Given the description of an element on the screen output the (x, y) to click on. 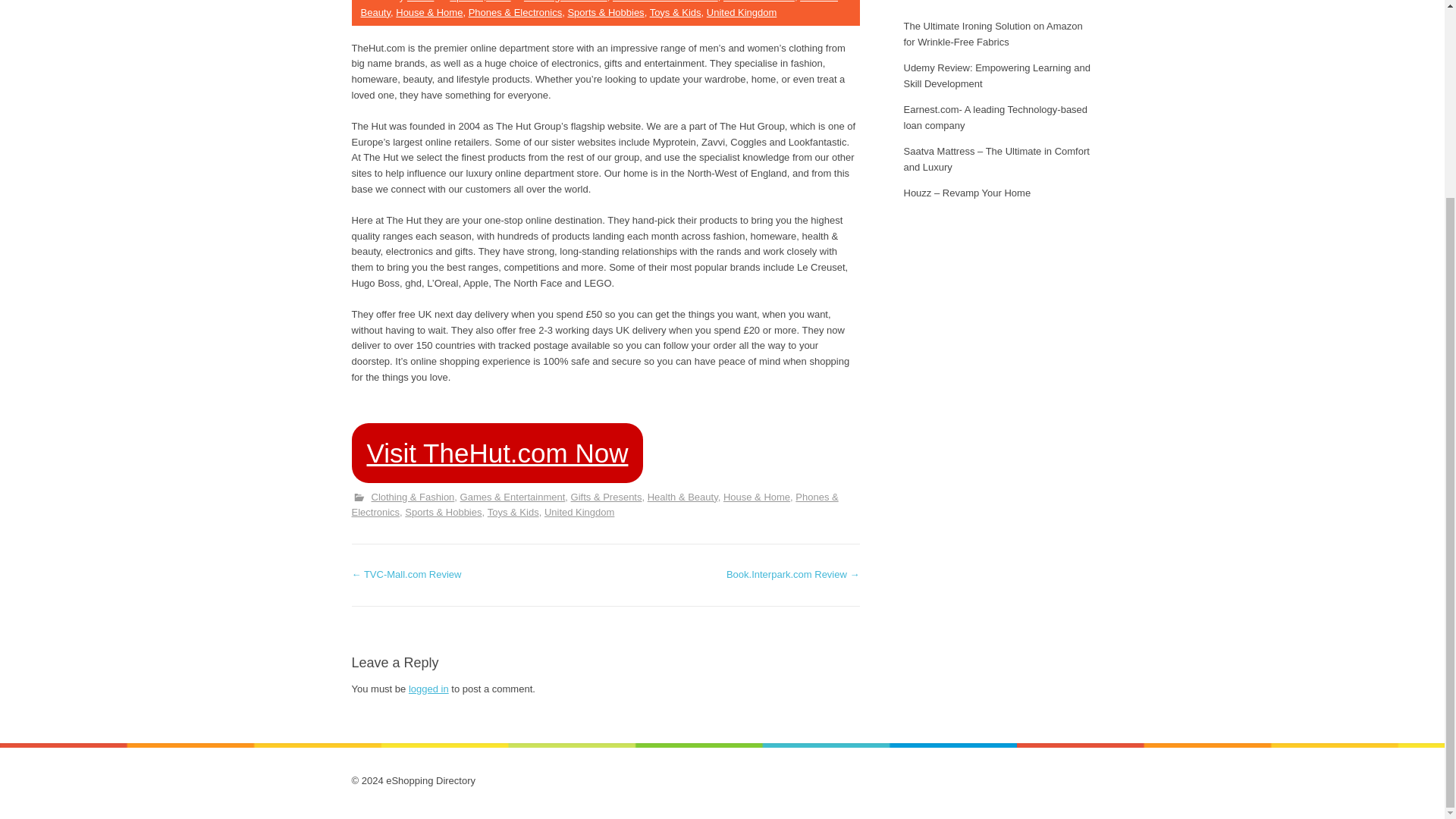
JAPAN (821, 18)
KOREA (821, 88)
ELECTRONICS (484, 405)
KAZAKHSTAN (821, 53)
RUSSIAN FEDERATION (821, 133)
FIND ONLINE SHOPS (484, 475)
EYEGLASS (484, 228)
